Given the description of an element on the screen output the (x, y) to click on. 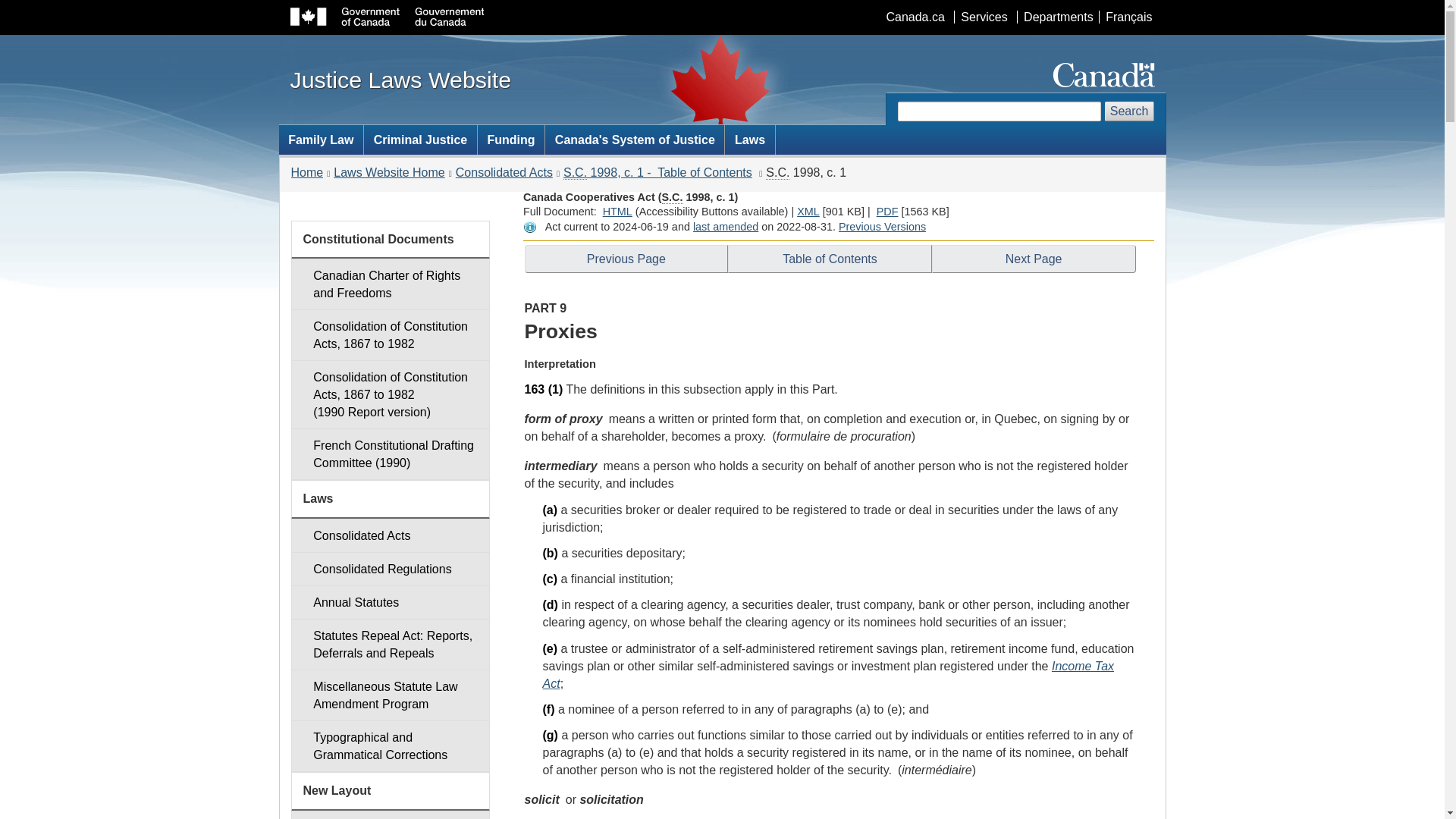
Consolidated Regulations and Orders (390, 569)
Home (307, 172)
Departments (1057, 16)
Funding (510, 139)
Canada's System of Justice (633, 139)
Criminal Justice (420, 139)
S.C. 1998, c. 1 -  Table of Contents (657, 172)
Previous Versions (882, 226)
Statutes of Canada (777, 172)
Justice Laws Website (400, 79)
Laws Website Home (807, 211)
Family Law (887, 211)
Previous Page (388, 172)
